Given the description of an element on the screen output the (x, y) to click on. 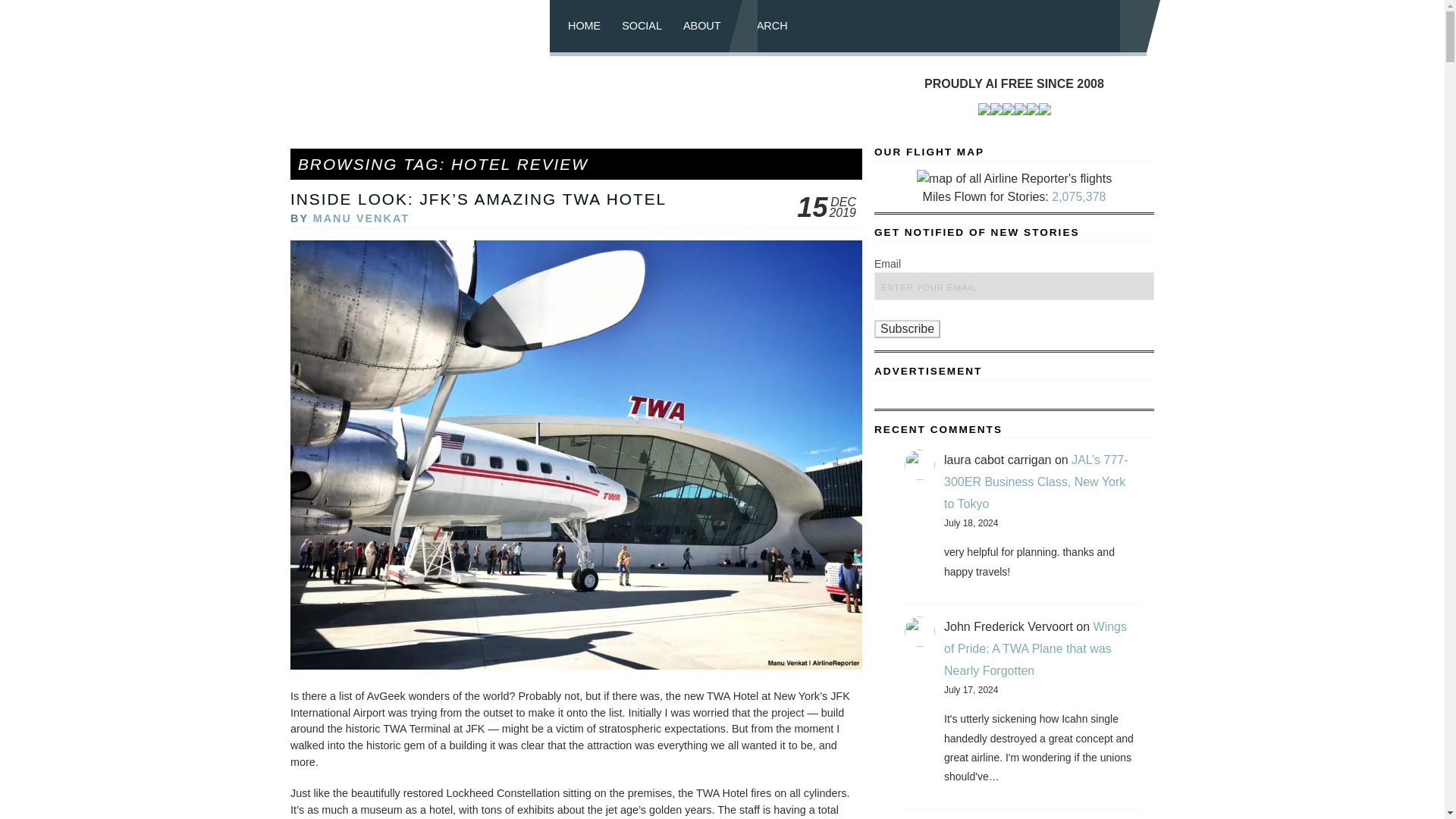
AirlineReporter (425, 28)
Posts by Manu Venkat (361, 218)
Subscribe (907, 329)
MANU VENKAT (361, 218)
